Given the description of an element on the screen output the (x, y) to click on. 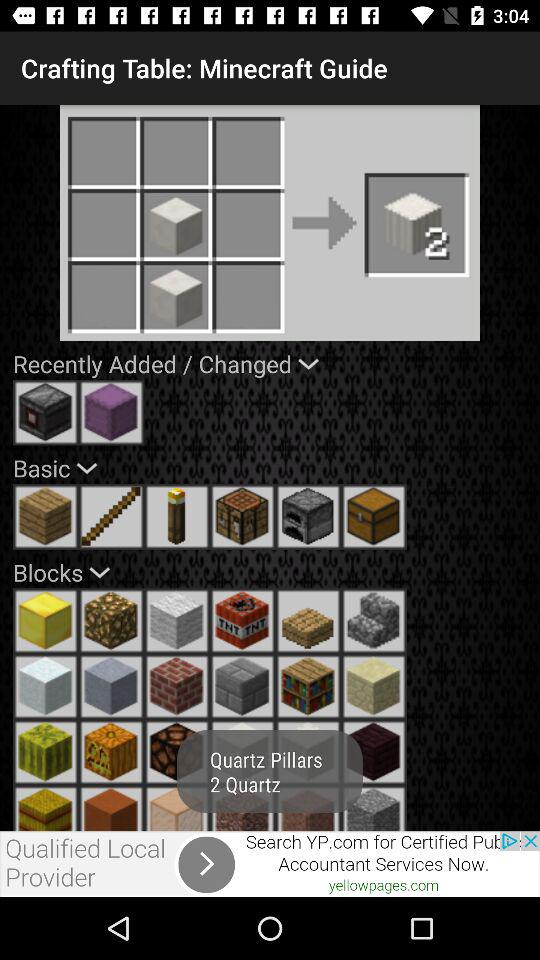
click the advertisement (270, 864)
